Given the description of an element on the screen output the (x, y) to click on. 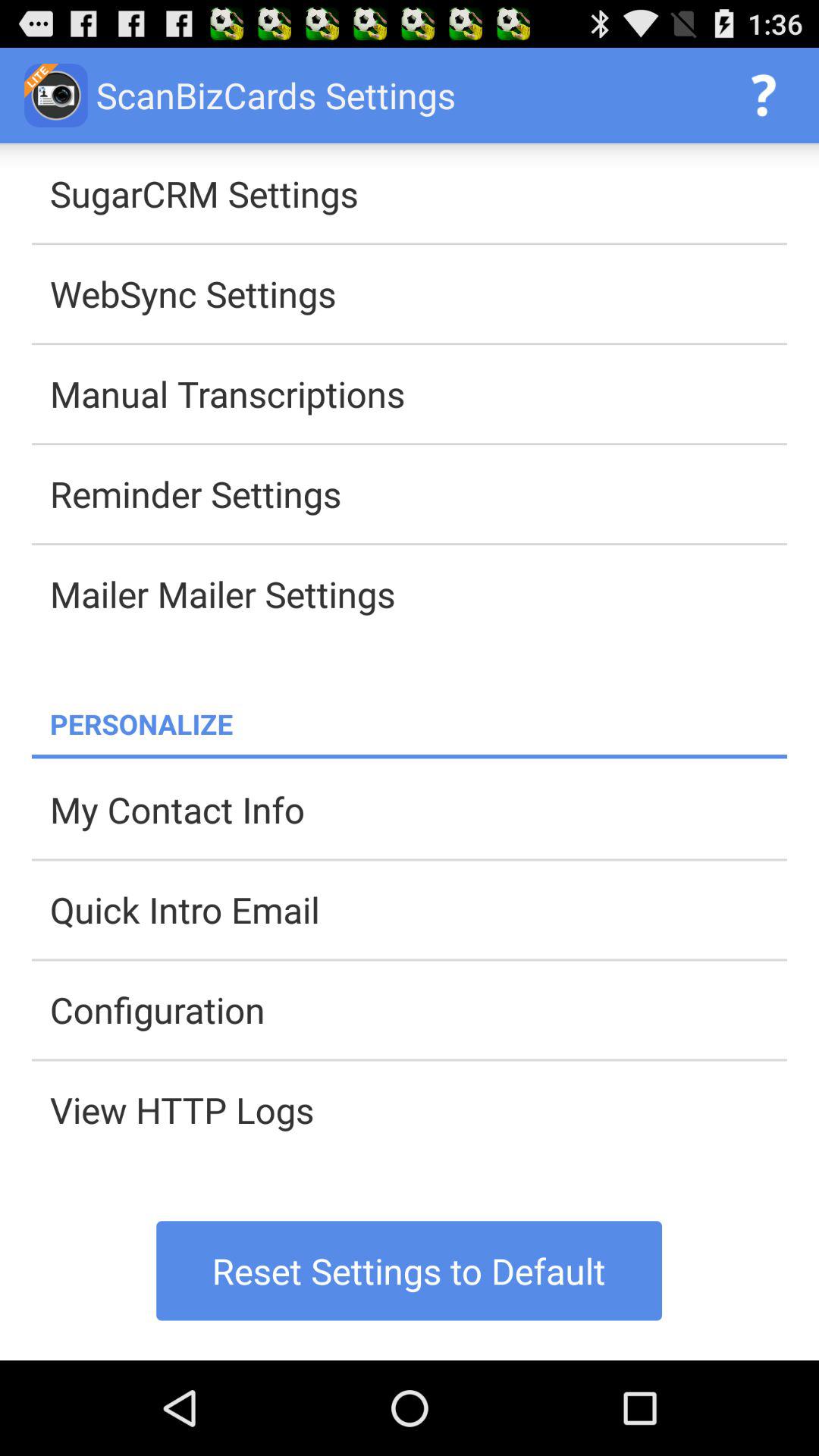
flip until quick intro email item (418, 909)
